Given the description of an element on the screen output the (x, y) to click on. 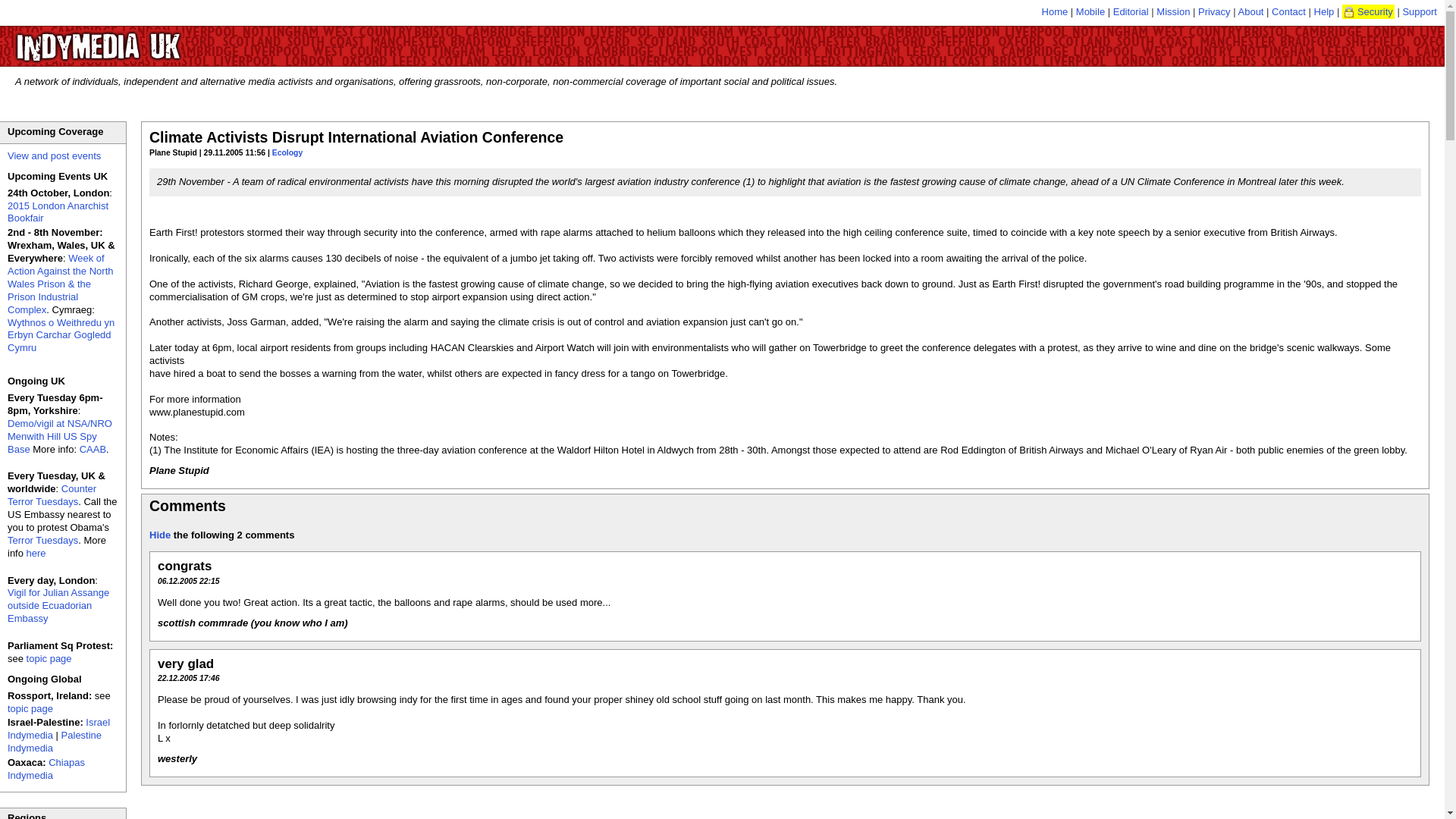
congrats (184, 565)
Support (1419, 11)
Vigil for Julian Assange outside Ecuadorian Embassy (58, 605)
Hide (159, 534)
Climate Activists Disrupt International Aviation Conference (356, 136)
topic page (48, 658)
Terror Tuesdays (42, 540)
2015 London Anarchist Bookfair (57, 211)
Wythnos o Weithredu yn Erbyn Carchar Gogledd Cymru (61, 334)
Israel Indymedia (58, 728)
